Given the description of an element on the screen output the (x, y) to click on. 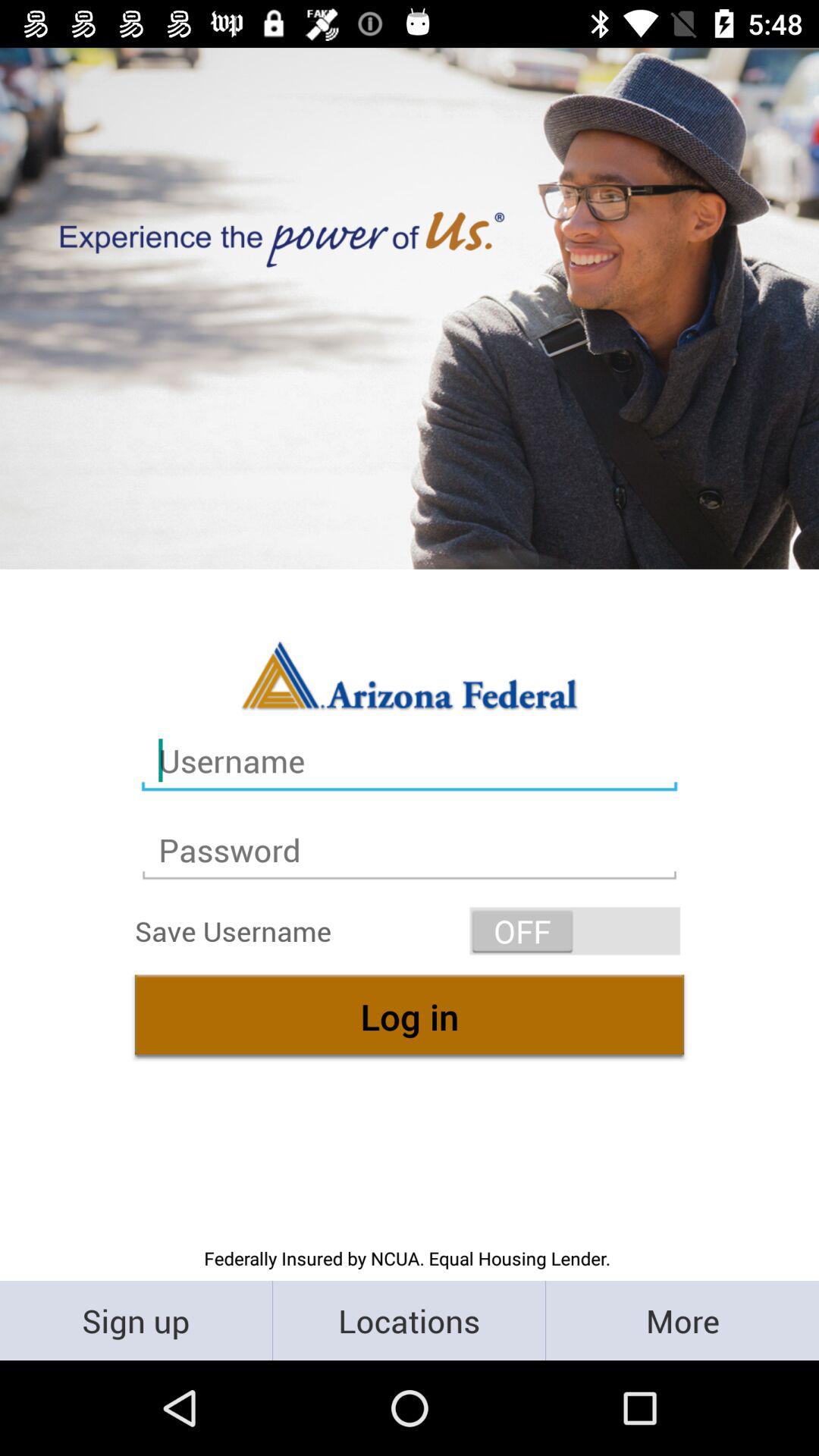
jump to the locations icon (409, 1320)
